Given the description of an element on the screen output the (x, y) to click on. 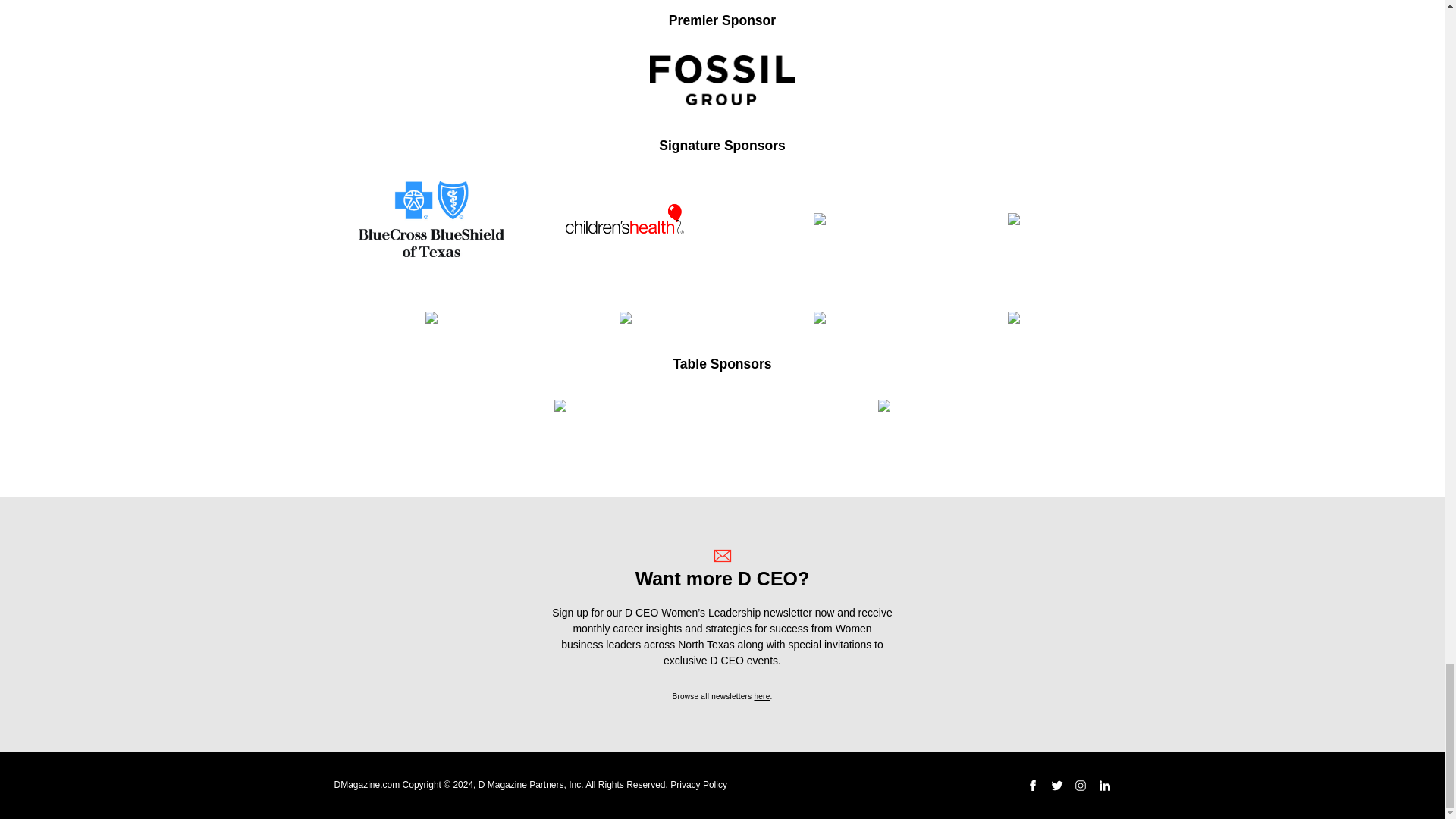
DMagazine.com (365, 784)
Privacy Policy (697, 784)
here (762, 696)
